Given the description of an element on the screen output the (x, y) to click on. 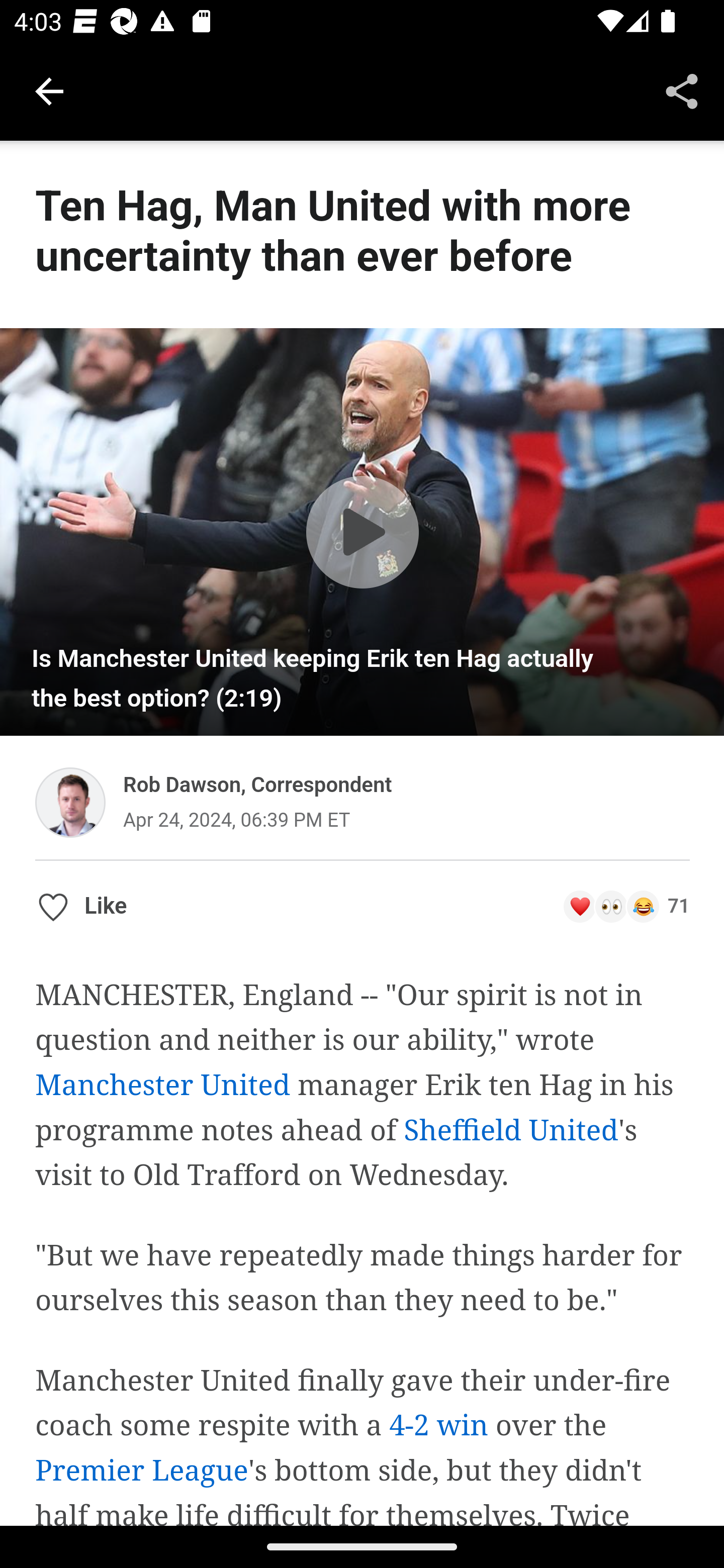
Navigate up (49, 91)
Share (681, 90)
